Given the description of an element on the screen output the (x, y) to click on. 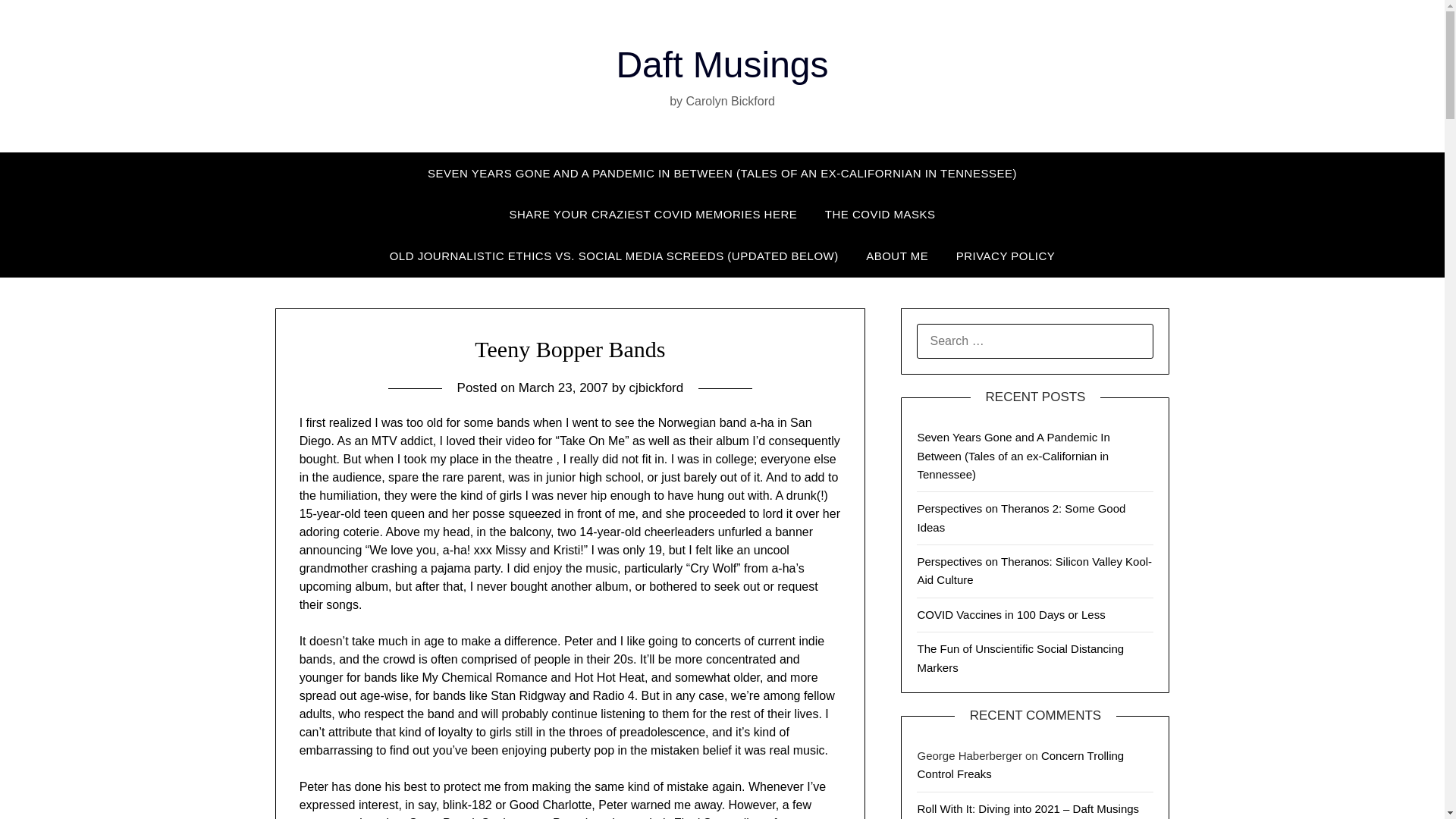
THE COVID MASKS (879, 214)
March 23, 2007 (563, 387)
Perspectives on Theranos 2: Some Good Ideas (1021, 517)
Search (38, 22)
COVID Vaccines in 100 Days or Less (1011, 614)
SHARE YOUR CRAZIEST COVID MEMORIES HERE (652, 214)
PRIVACY POLICY (1005, 255)
Daft Musings (721, 65)
Perspectives on Theranos: Silicon Valley Kool-Aid Culture (1034, 570)
The Fun of Unscientific Social Distancing Markers (1020, 657)
Concern Trolling Control Freaks (1020, 764)
cjbickford (655, 387)
ABOUT ME (896, 255)
